Given the description of an element on the screen output the (x, y) to click on. 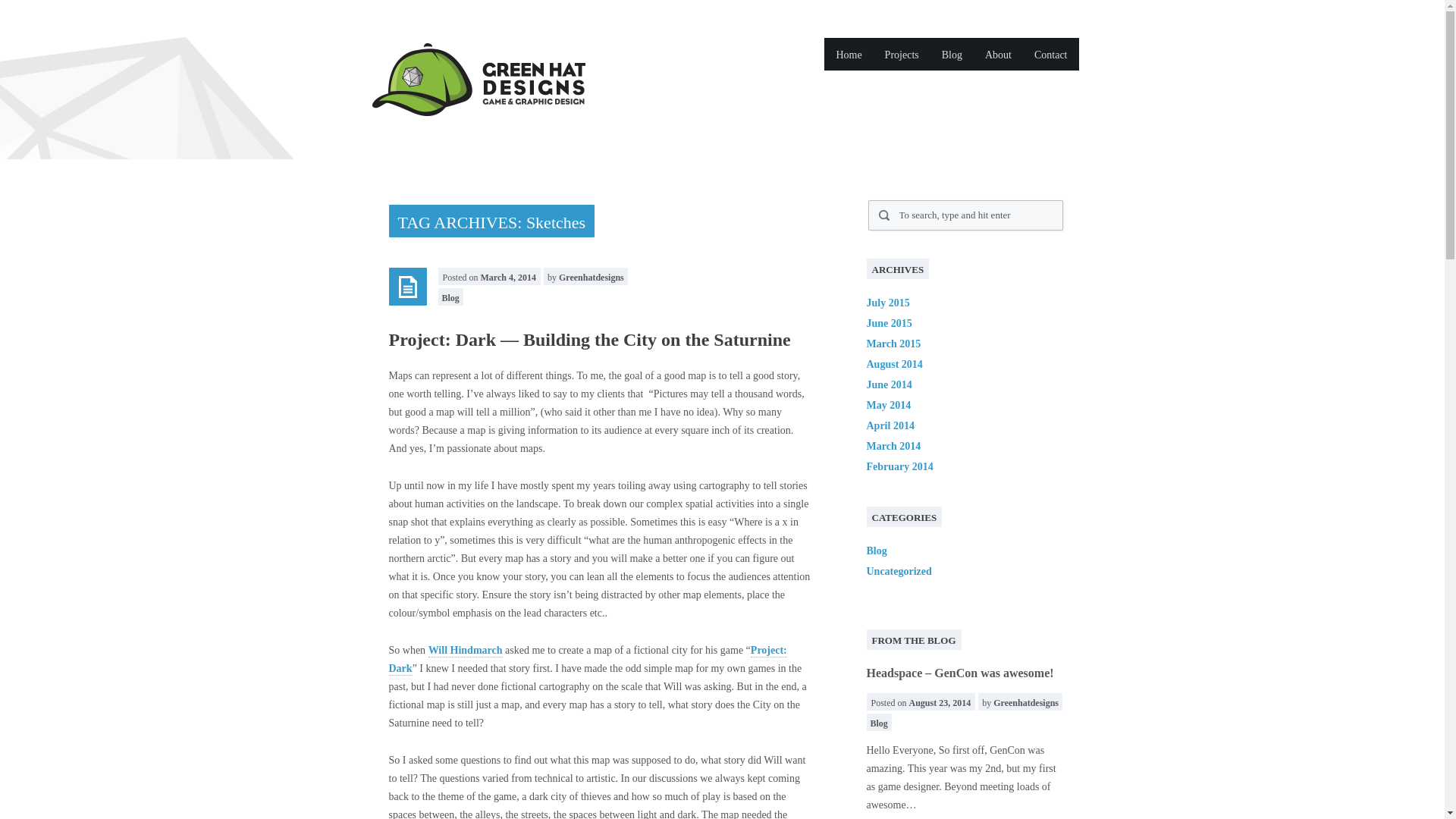
June 2014 (888, 384)
Posts by Greenhatdesigns (591, 276)
April 2014 (890, 425)
March 4, 2014 (507, 276)
Greenhatdesigns (1025, 702)
Word Studio.net (465, 650)
Home (848, 53)
About (998, 53)
August 2014 (893, 364)
Posts by Greenhatdesigns (1025, 702)
